Given the description of an element on the screen output the (x, y) to click on. 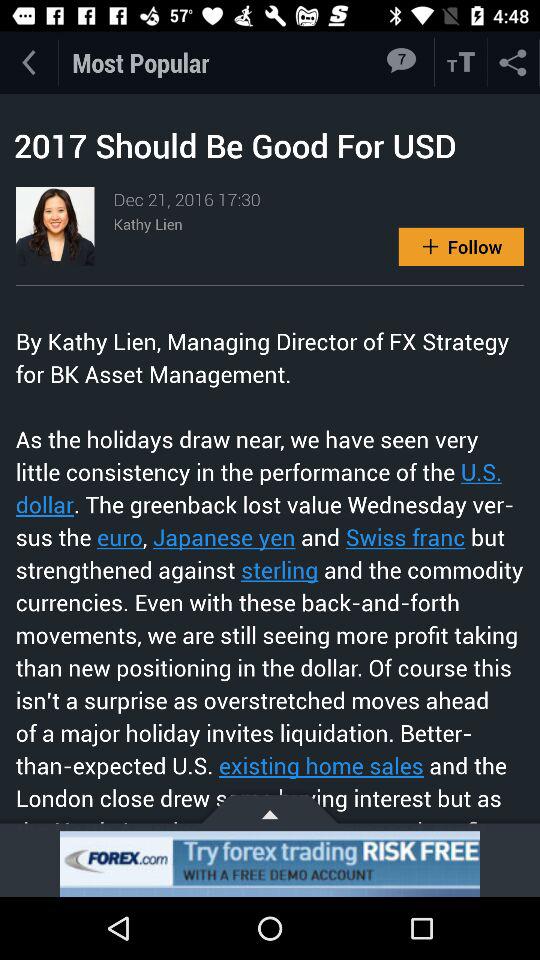
go back (28, 62)
